Given the description of an element on the screen output the (x, y) to click on. 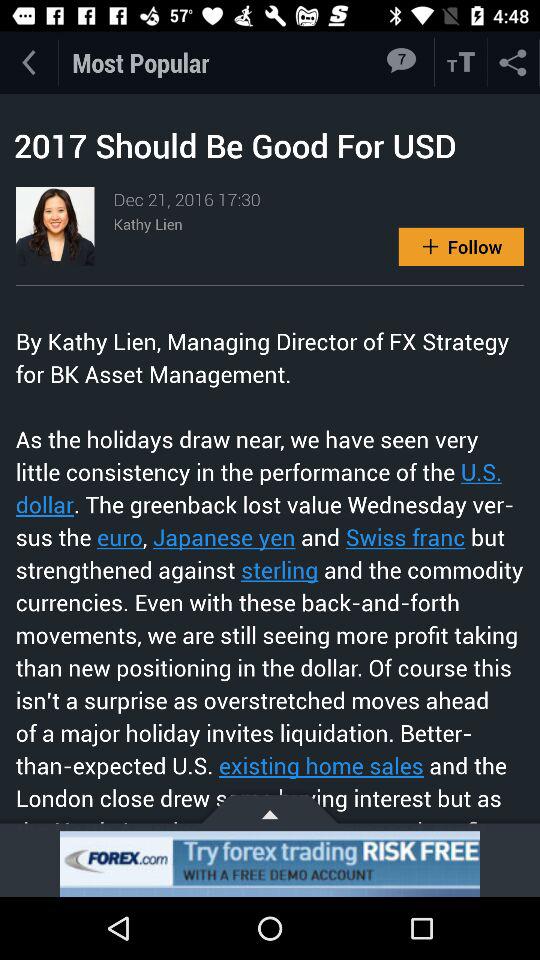
go back (28, 62)
